Given the description of an element on the screen output the (x, y) to click on. 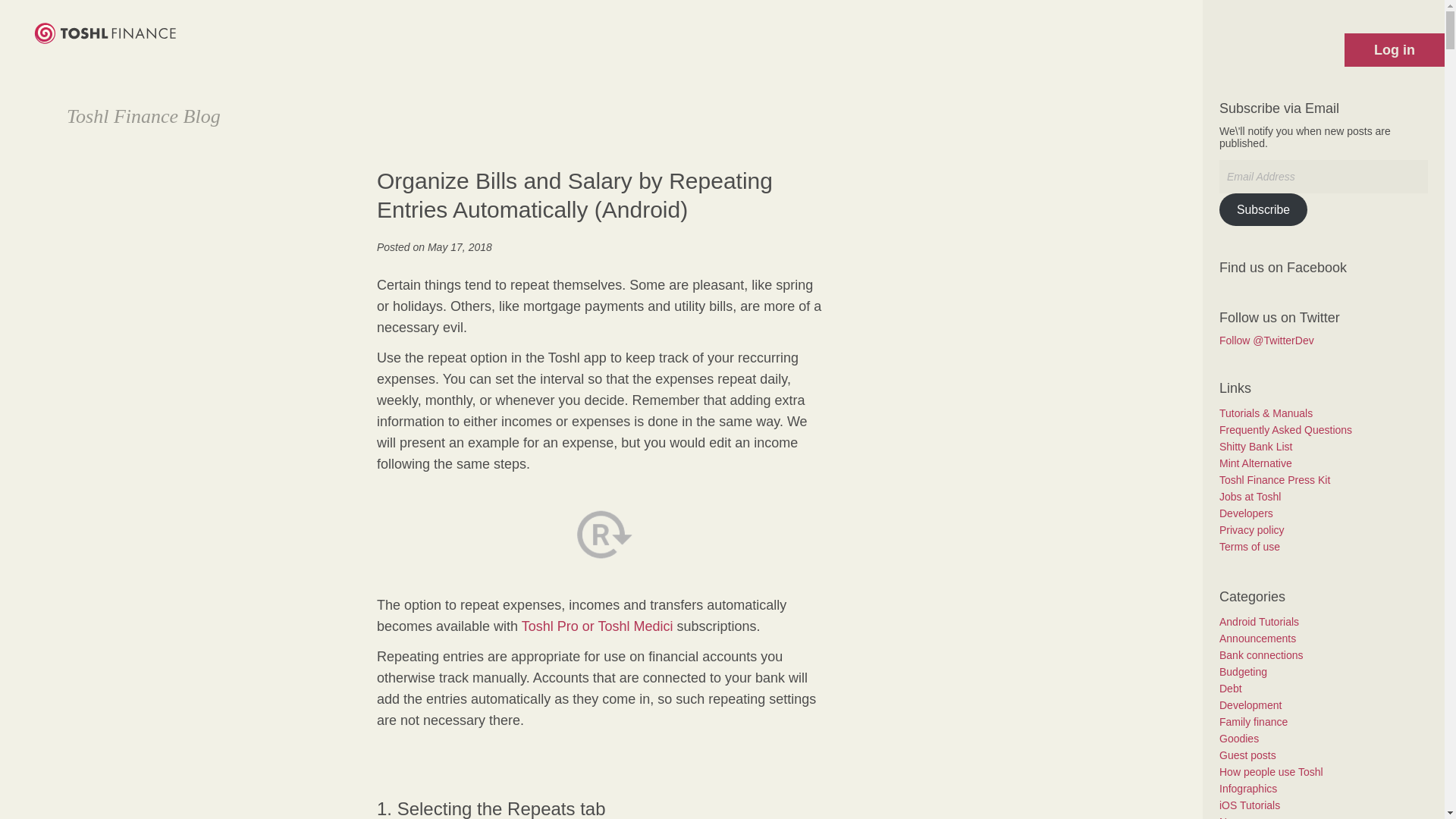
The ultimate Mint.com alternative (1256, 463)
Subscribe (1263, 209)
Toshl Pro or Toshl Medici (596, 626)
Toshl Finance Blog (143, 116)
